Given the description of an element on the screen output the (x, y) to click on. 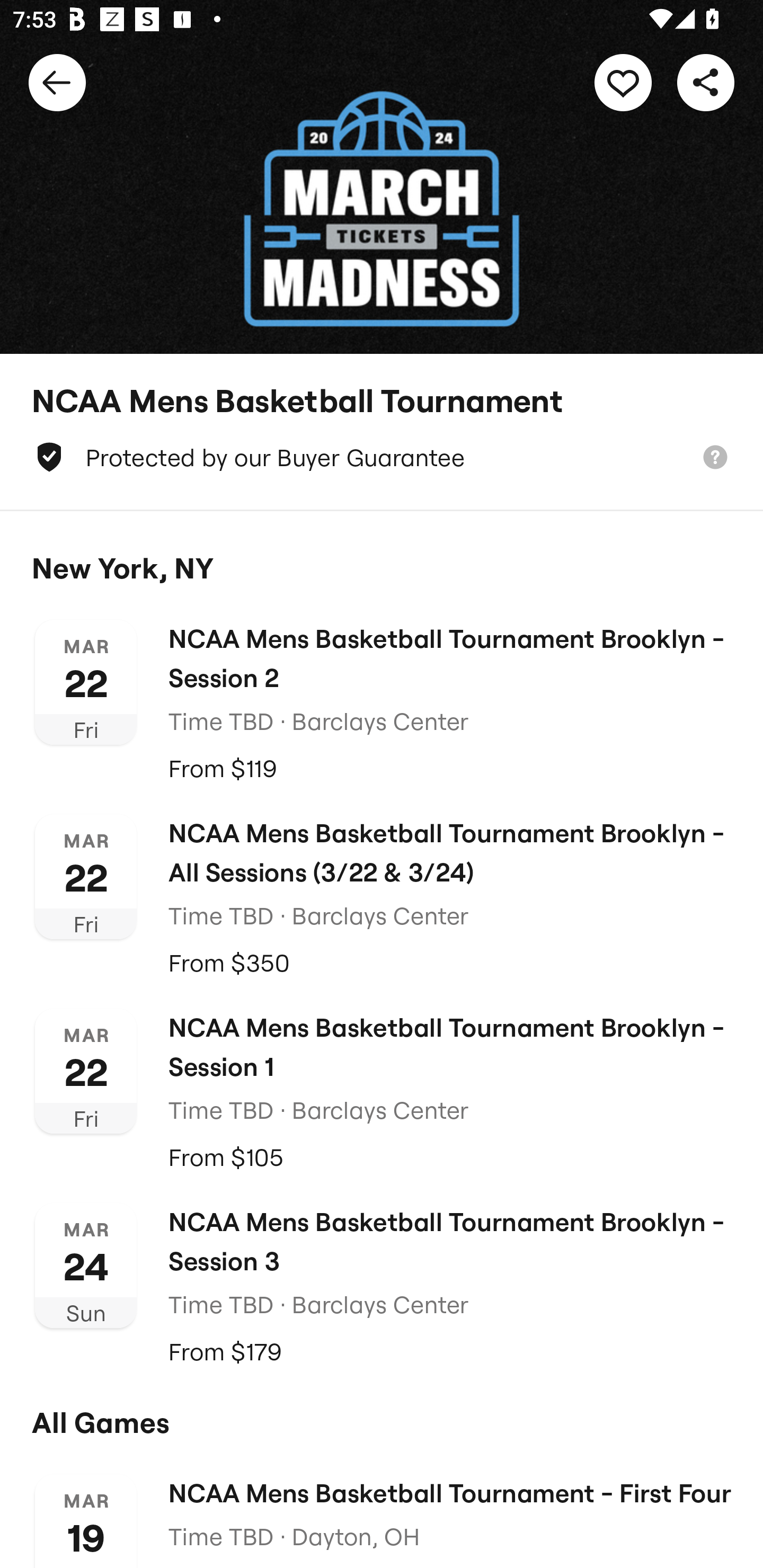
Back (57, 81)
Track this performer (623, 81)
Share this performer (705, 81)
Protected by our Buyer Guarantee Learn more (381, 456)
